Given the description of an element on the screen output the (x, y) to click on. 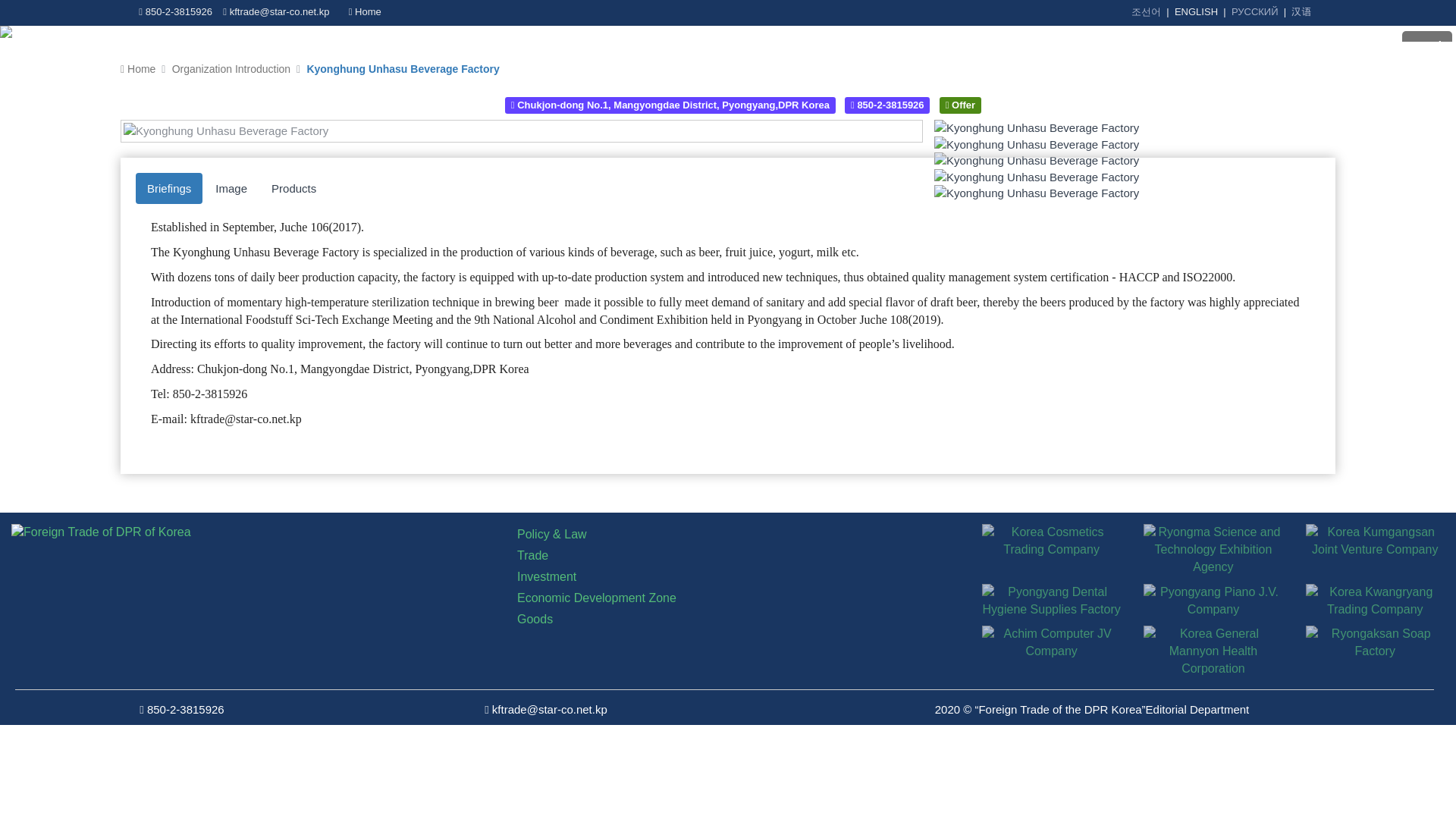
Achim Computer JV Company (1051, 633)
Briefings (168, 187)
Trade (532, 554)
Products (293, 187)
Image (231, 187)
850-2-3815926 (887, 105)
Economic Development Zone (596, 597)
Pyongyang Dental Hygiene Supplies Factory (1051, 591)
Investment (546, 576)
Goods (534, 618)
Organization Introduction (230, 69)
Home (365, 11)
Kyonghung Unhasu Beverage Factory (1036, 127)
Korea Kumgangsan Joint Venture Company (1375, 531)
Kyonghung Unhasu Beverage Factory (1036, 144)
